Given the description of an element on the screen output the (x, y) to click on. 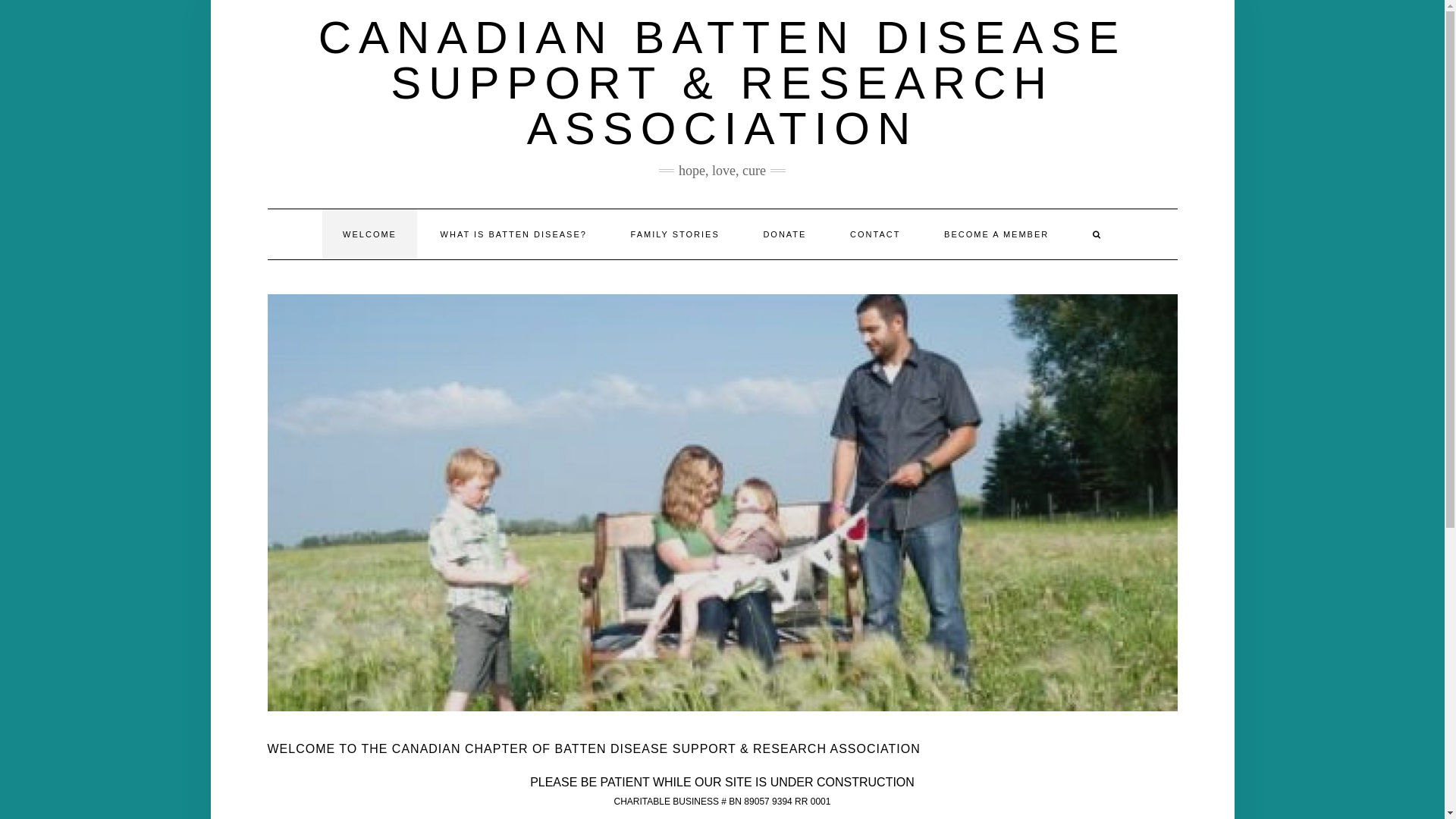
CANADIAN BATTEN DISEASE SUPPORT & RESEARCH ASSOCIATION Element type: text (722, 82)
DONATE Element type: text (784, 234)
CONTACT Element type: text (874, 234)
WELCOME Element type: text (369, 234)
FAMILY STORIES Element type: text (675, 234)
WHAT IS BATTEN DISEASE? Element type: text (513, 234)
BECOME A MEMBER Element type: text (996, 234)
